Given the description of an element on the screen output the (x, y) to click on. 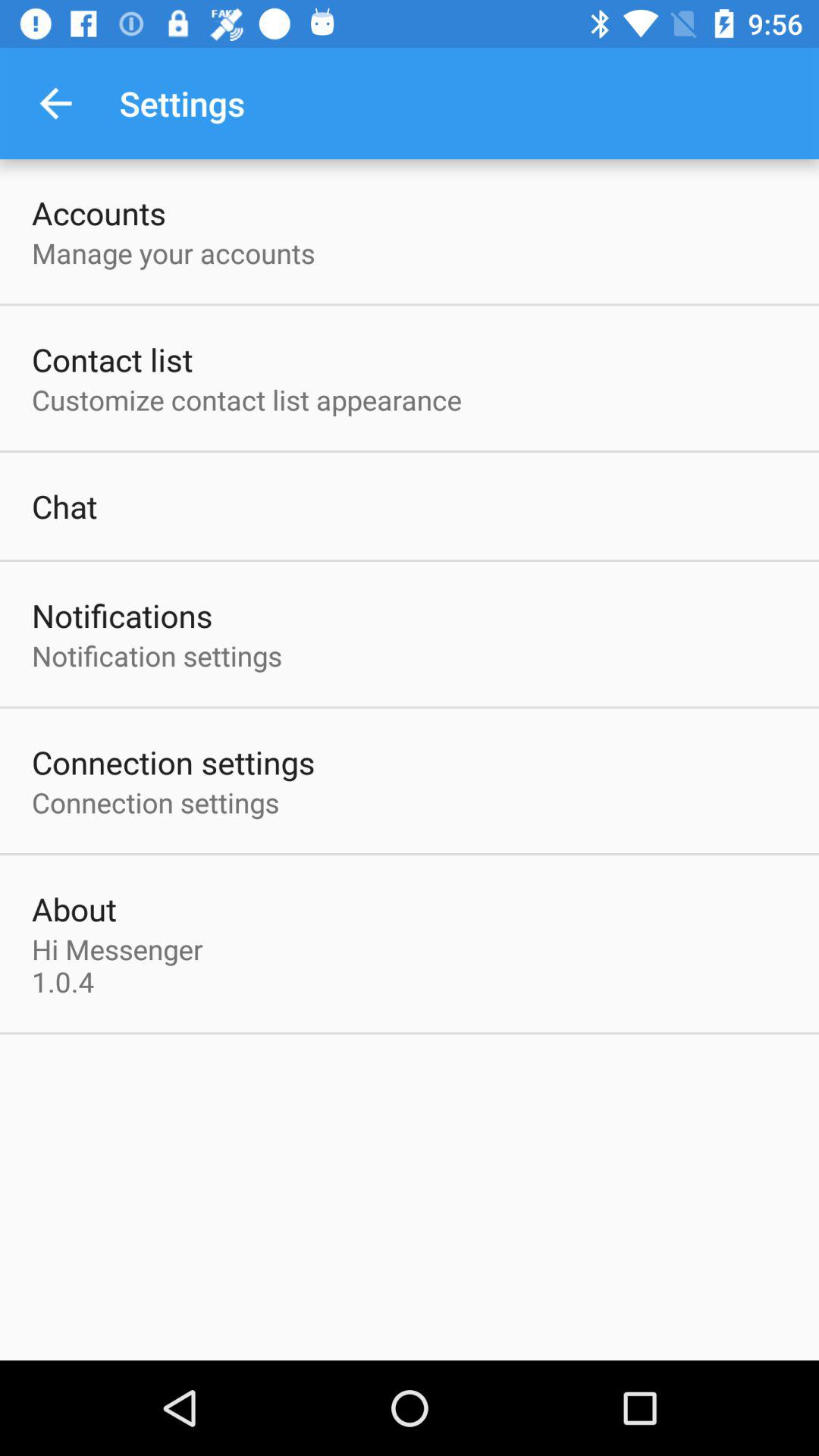
select item above the notifications item (64, 505)
